Given the description of an element on the screen output the (x, y) to click on. 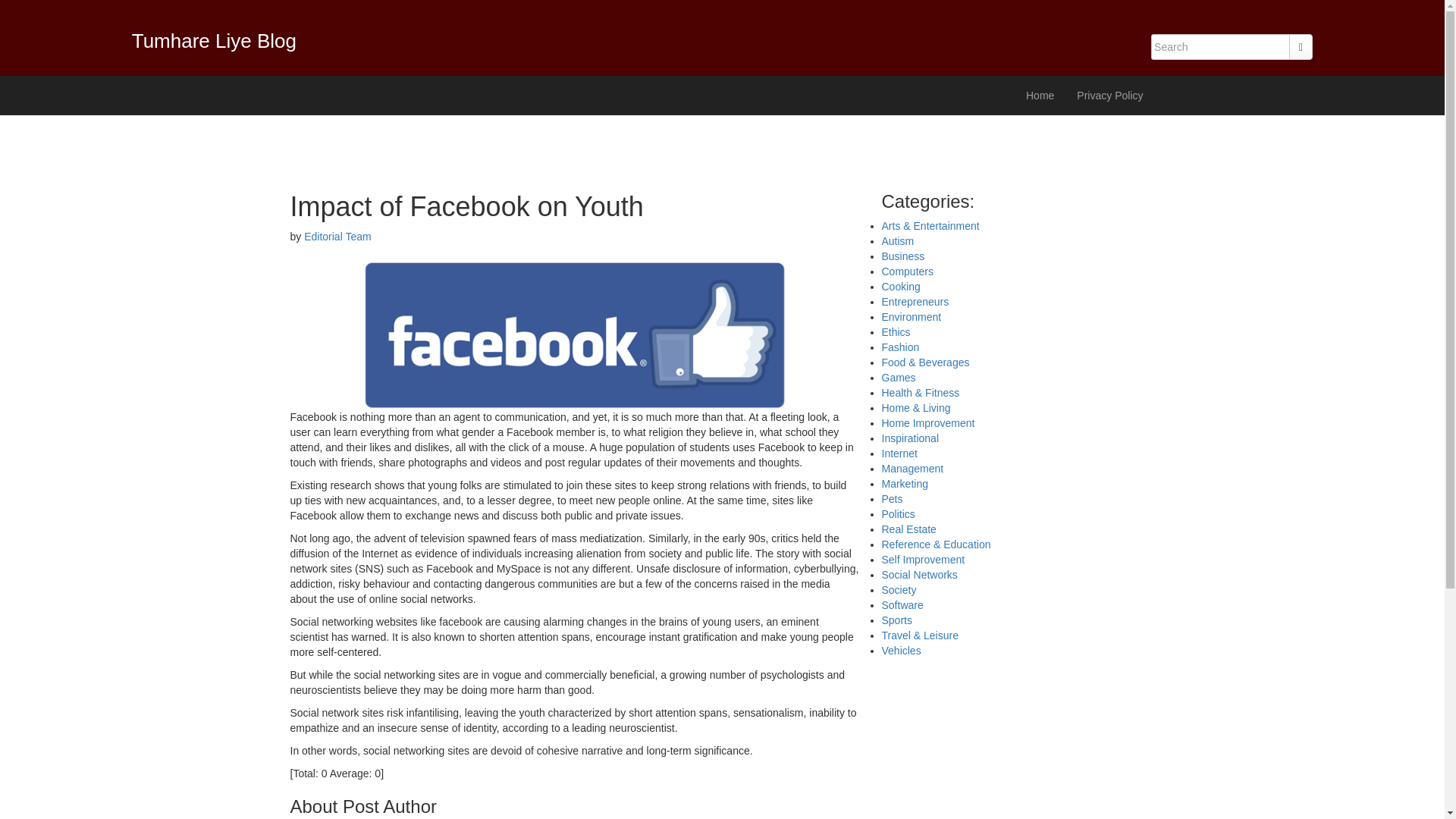
Society (897, 589)
Autism (897, 241)
Fashion (899, 346)
Inspirational (909, 438)
Self Improvement (921, 559)
Business (902, 256)
Home Improvement (927, 422)
Software (901, 604)
Cooking (900, 286)
Privacy Policy (1109, 95)
Entrepreneurs (914, 301)
Ethics (895, 331)
Internet (898, 453)
Marketing (903, 483)
Editorial Team (337, 236)
